Given the description of an element on the screen output the (x, y) to click on. 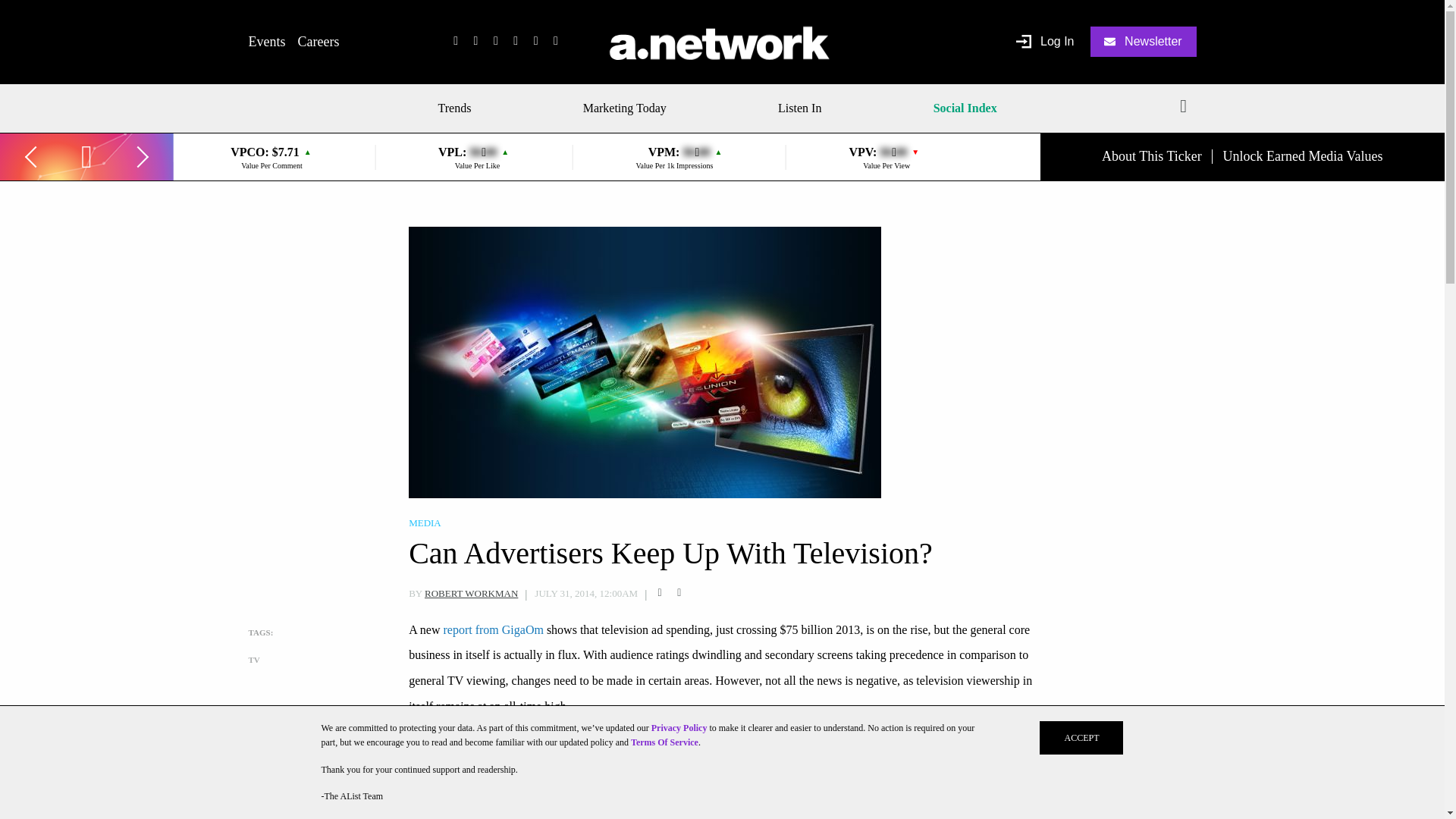
Careers (318, 41)
Trends (459, 108)
Social Index (965, 108)
Log In (1045, 42)
Marketing Today (625, 108)
Listen In (799, 108)
Events (266, 41)
Newsletter (1143, 41)
